Given the description of an element on the screen output the (x, y) to click on. 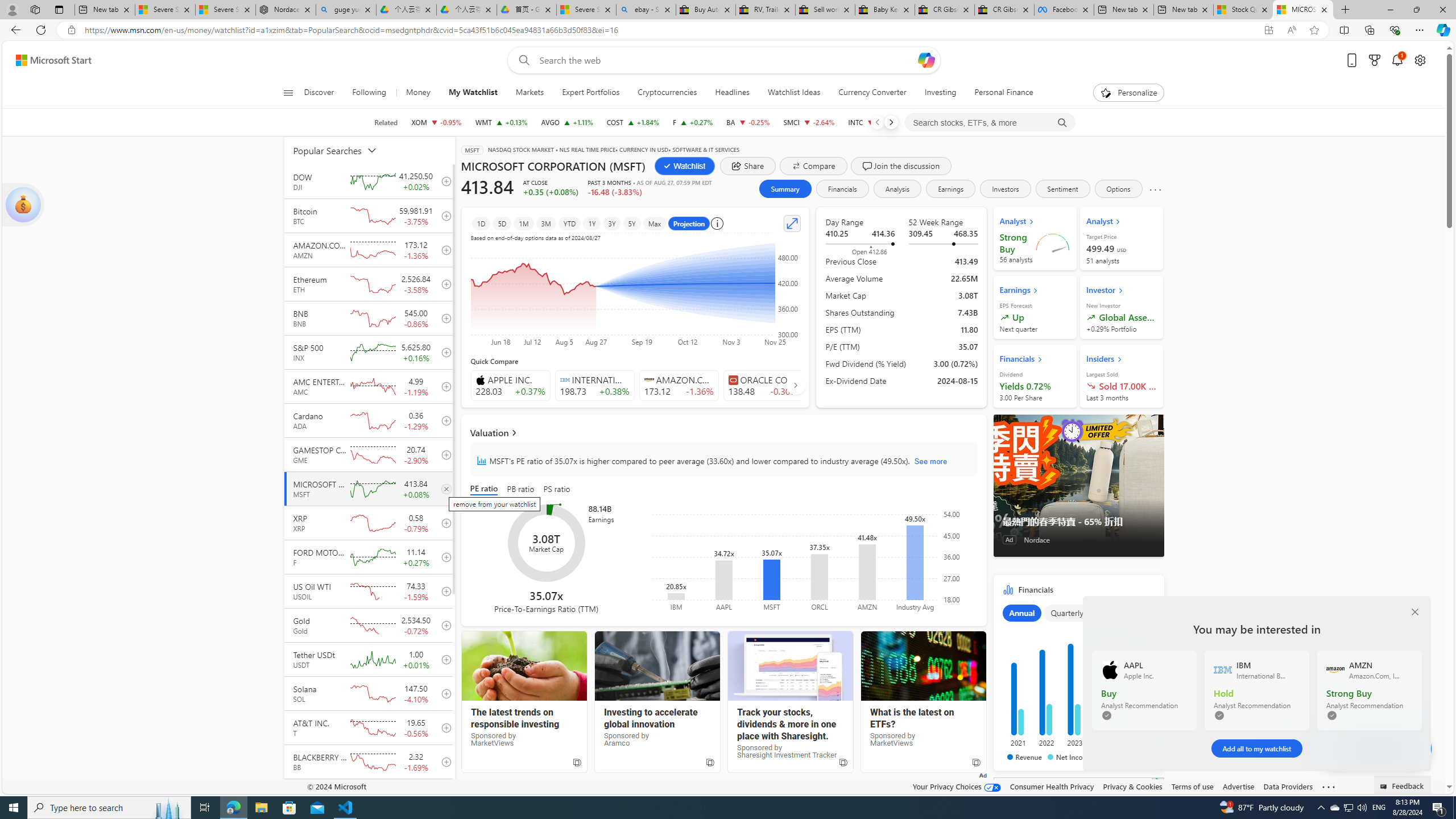
remove from your watchlist (442, 488)
Markets (529, 92)
Search stocks, ETFs, & more (989, 122)
Next (890, 122)
Baby Keepsakes & Announcements for sale | eBay (885, 9)
Class: removeIcon (446, 488)
Consumer Health Privacy (1051, 786)
Compare (813, 166)
3M (545, 223)
